Given the description of an element on the screen output the (x, y) to click on. 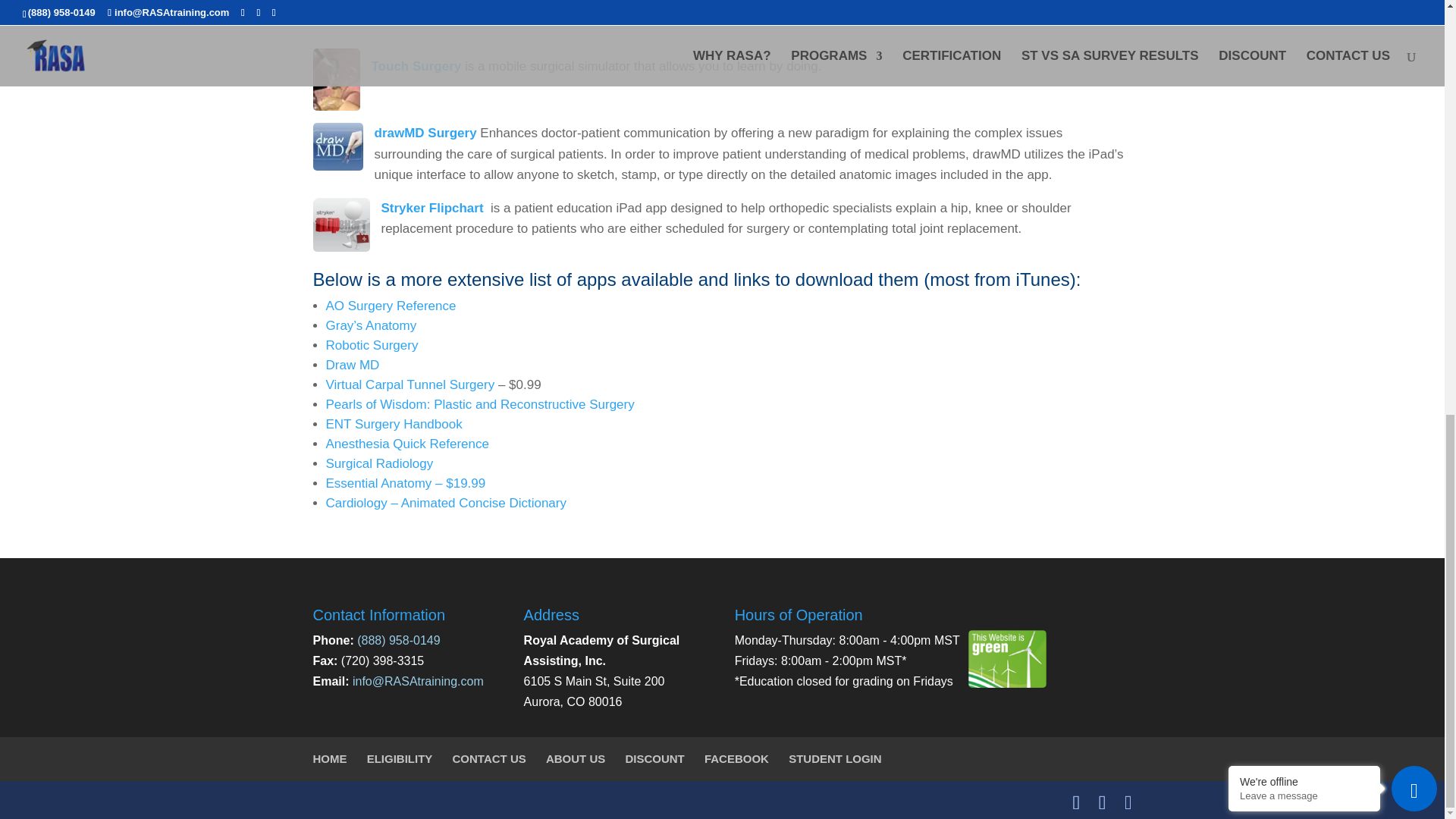
Procedure Log (339, 4)
